Given the description of an element on the screen output the (x, y) to click on. 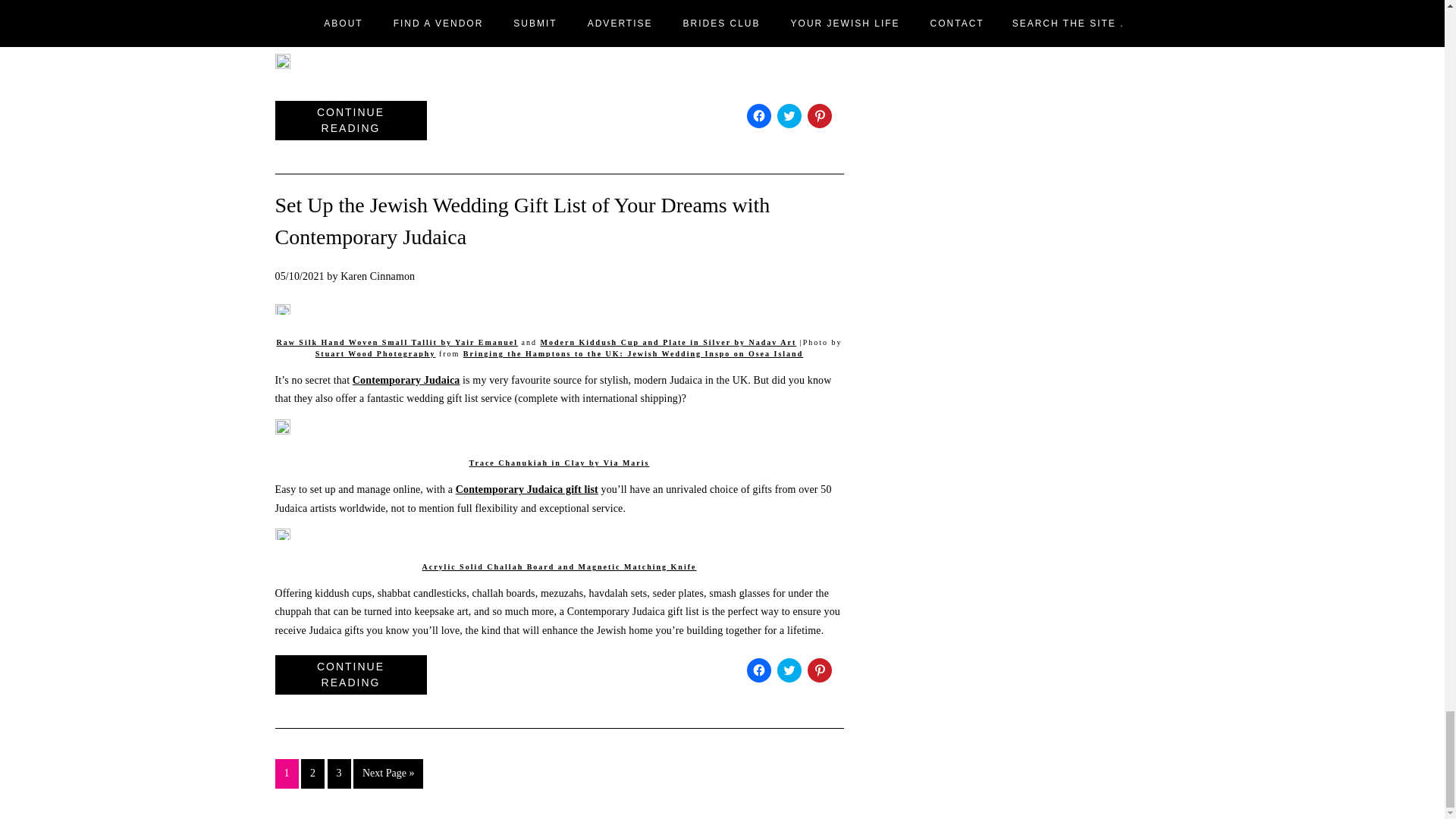
Click to share on Facebook (757, 670)
Click to share on Facebook (757, 115)
Click to share on Pinterest (818, 115)
Click to share on Twitter (788, 115)
